Given the description of an element on the screen output the (x, y) to click on. 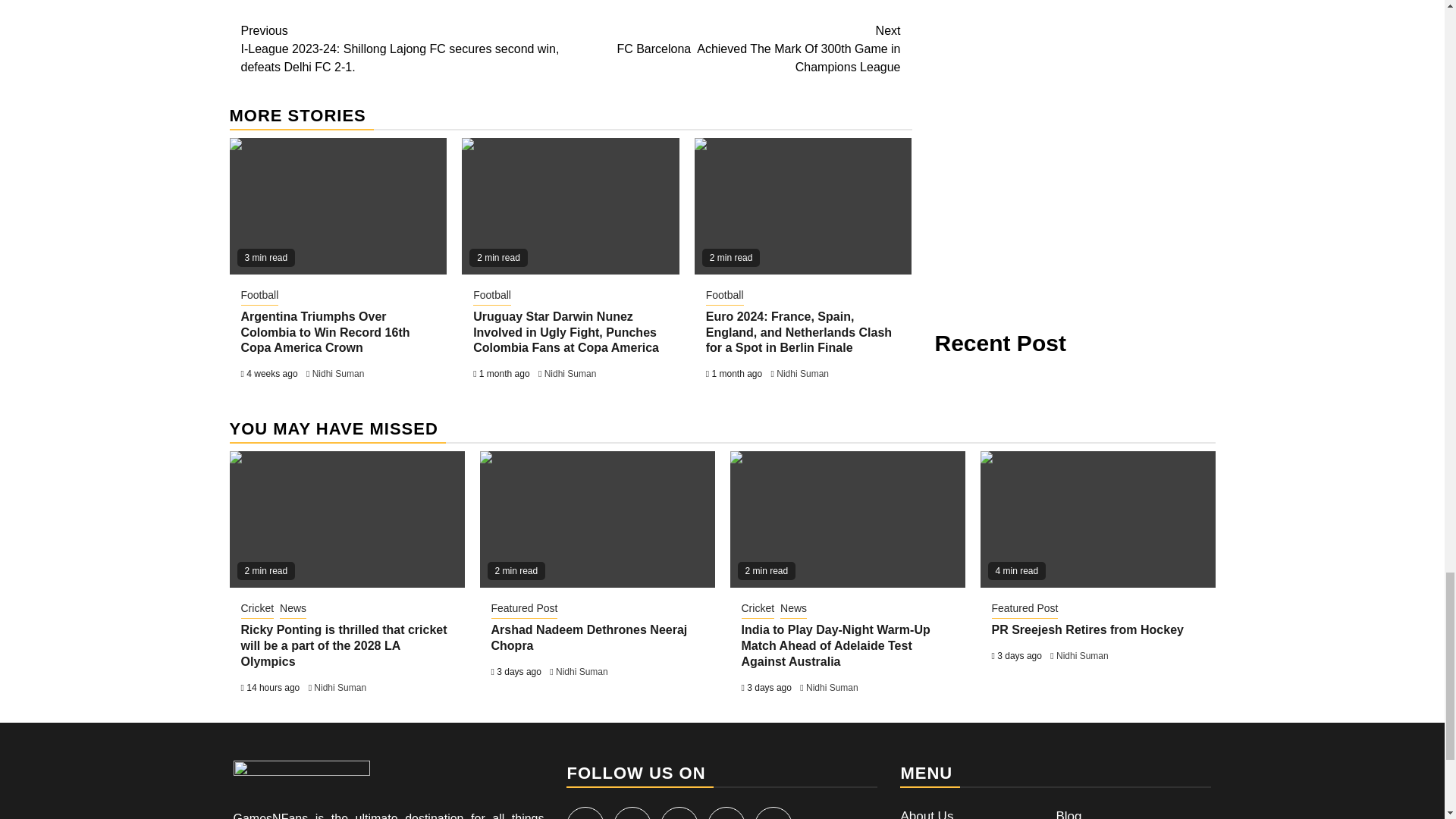
Football (725, 296)
Football (492, 296)
Nidhi Suman (339, 373)
Nidhi Suman (570, 373)
Football (260, 296)
